Given the description of an element on the screen output the (x, y) to click on. 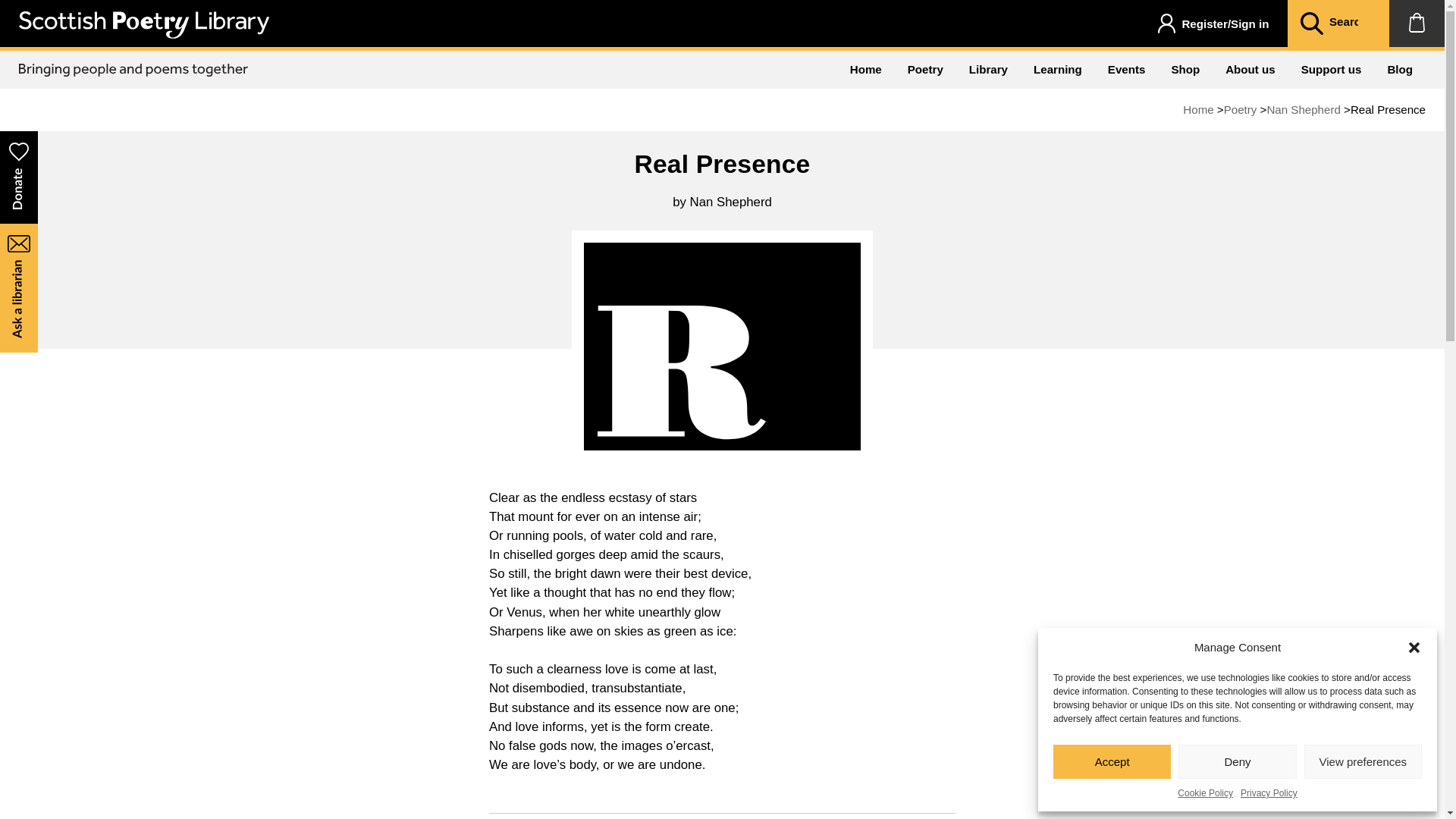
Library (988, 69)
Poetry (1240, 109)
Home (1197, 109)
Accept (1111, 761)
Nan Shepherd (1302, 109)
Home (866, 69)
Learning (1057, 69)
Shopping Bag (1416, 23)
Deny (1236, 761)
Privacy Policy (1268, 793)
Search site: (1350, 22)
Scottish Poetry Library logo (143, 24)
Search (1310, 24)
Cookie Policy (1205, 793)
Poetry (925, 69)
